Given the description of an element on the screen output the (x, y) to click on. 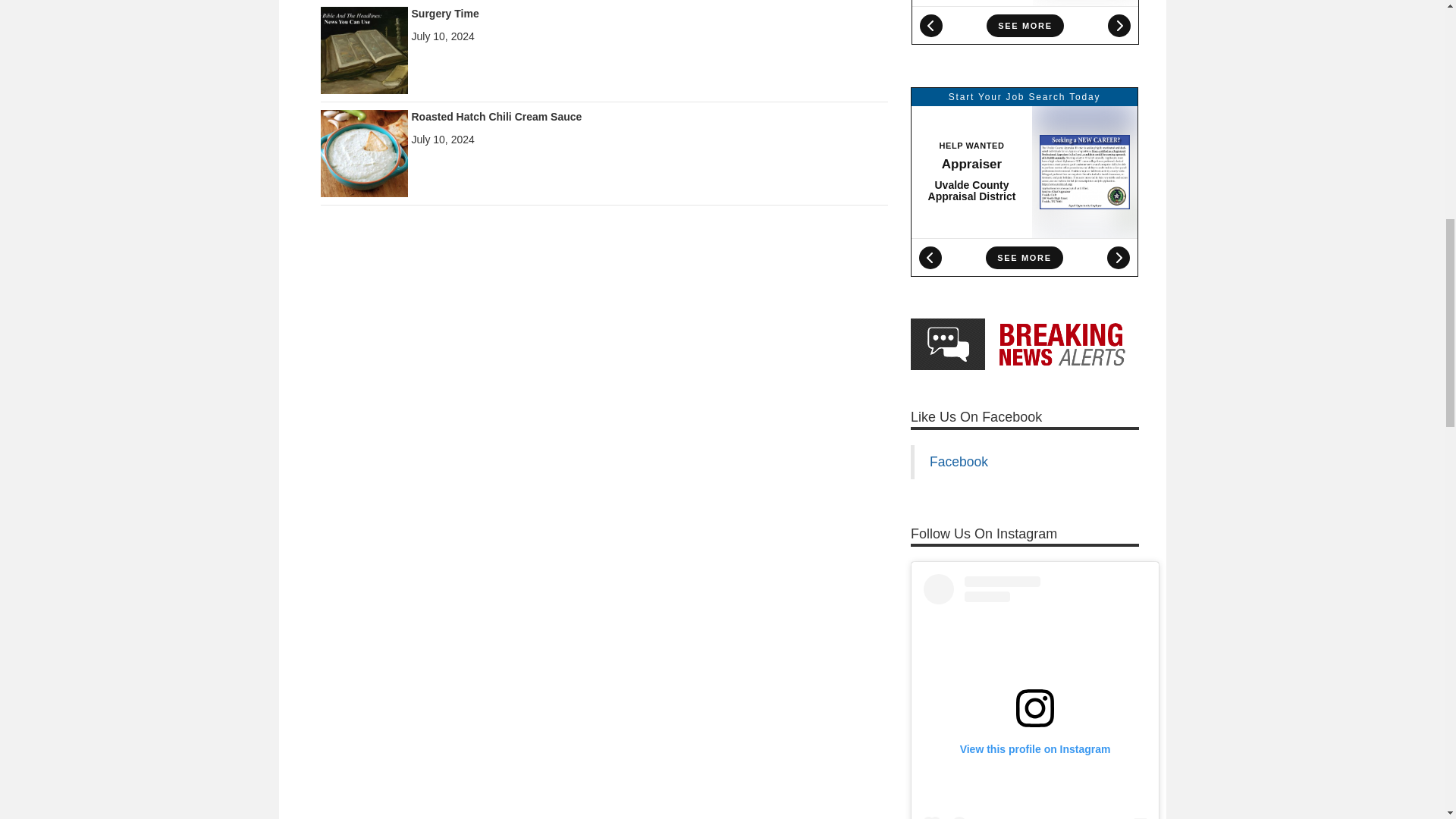
Surgery Time (444, 13)
Roasted Hatch Chili Cream Sauce (495, 116)
Roasted Hatch Chili Cream Sauce (363, 152)
Surgery Time (363, 49)
